Given the description of an element on the screen output the (x, y) to click on. 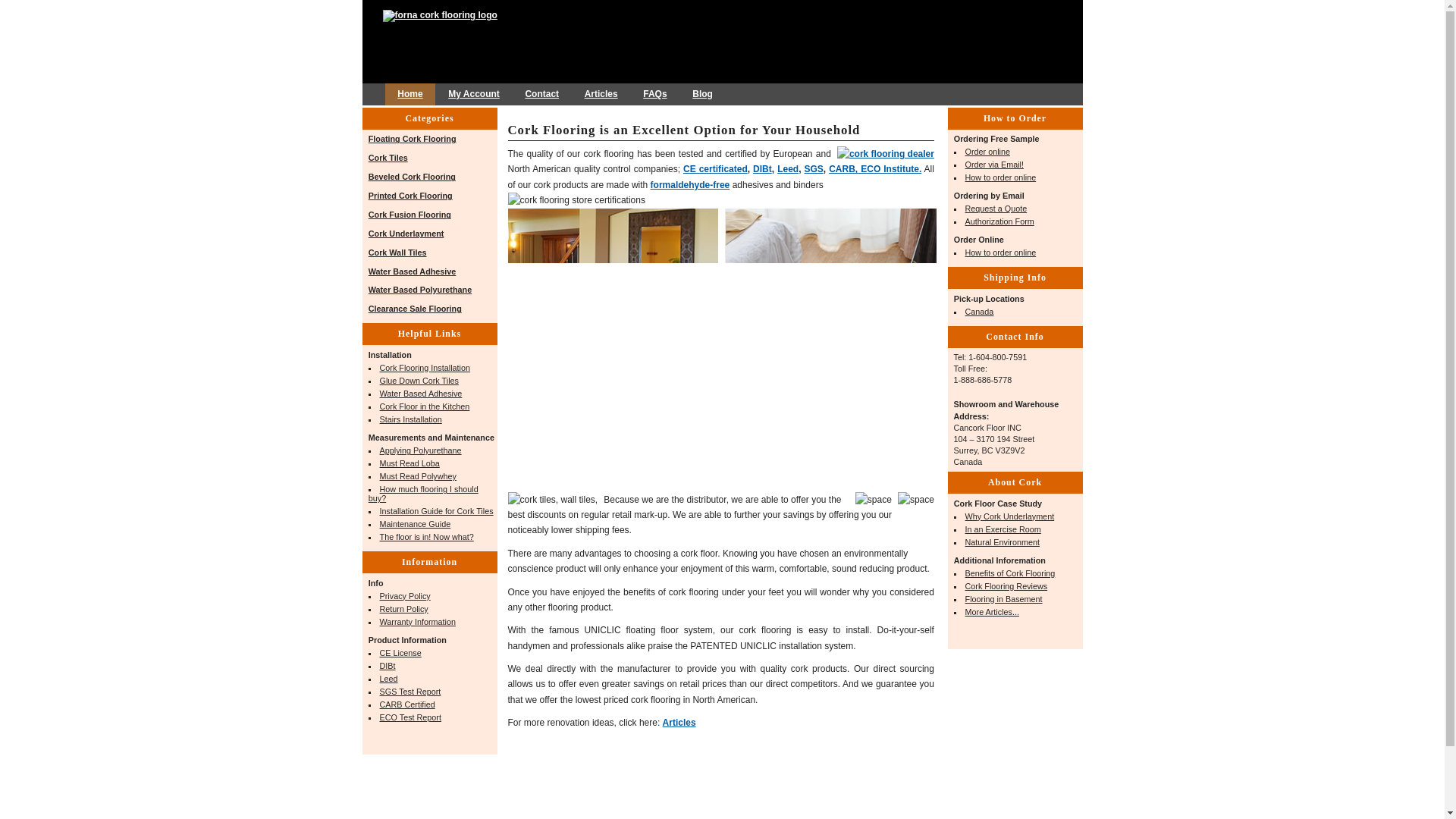
DIBt (761, 168)
CE License (401, 652)
More Articles... (992, 611)
SGS Test Report (410, 691)
DIBt (388, 665)
ECO Test Report (410, 716)
Flooring in Basement (1003, 598)
Cork Wall Tiles (397, 252)
CARB, (842, 168)
My Account (473, 94)
Cork Underlayment (406, 233)
Floating Cork Flooring (412, 138)
Benefits of Cork Flooring (1010, 573)
How to order online (1000, 176)
How to order online (1000, 252)
